Given the description of an element on the screen output the (x, y) to click on. 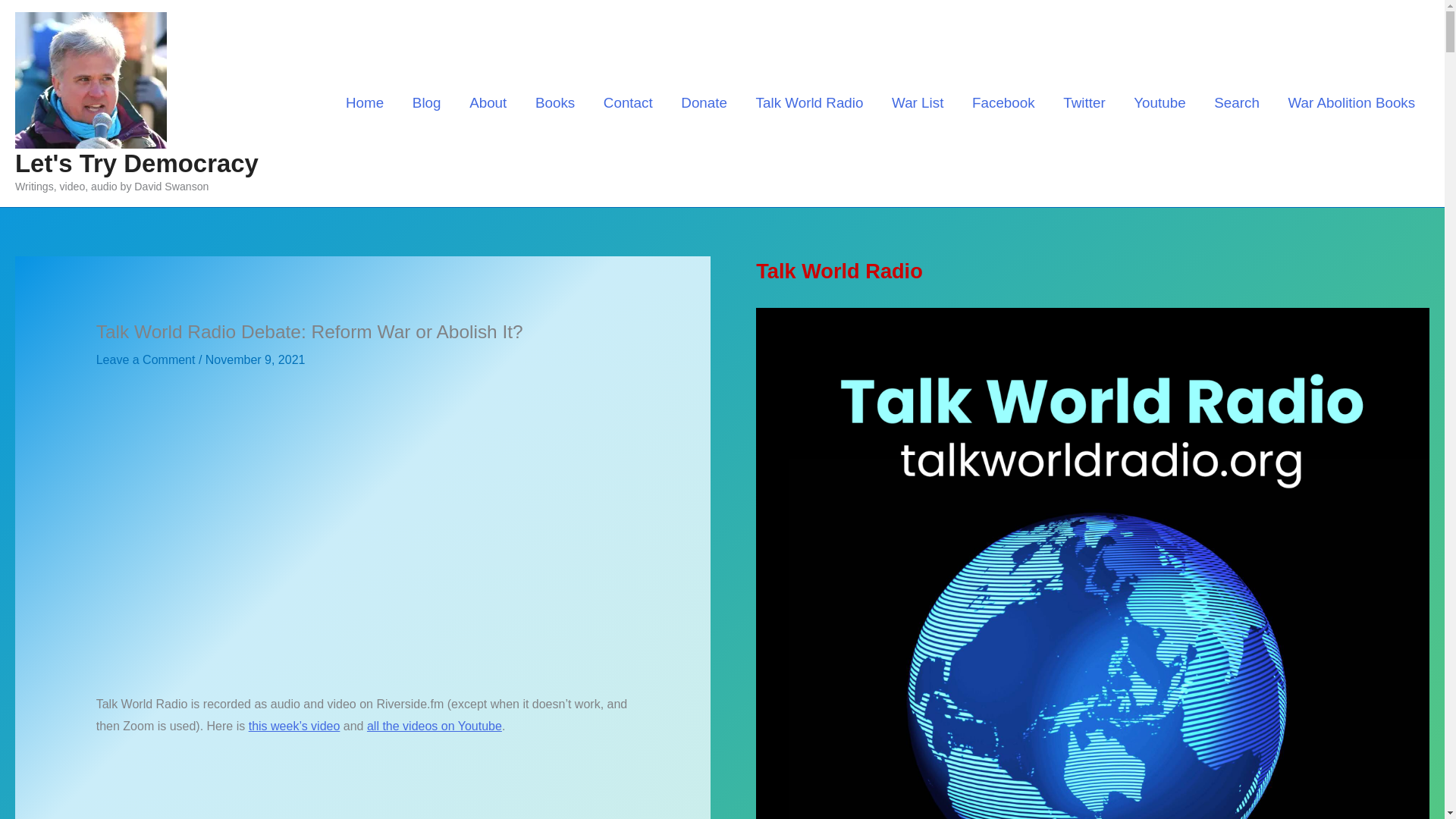
Search (1235, 102)
Let's Try Democracy (136, 163)
About (487, 102)
Donate (703, 102)
War List (917, 102)
all the videos on Youtube (434, 725)
Twitter (1083, 102)
Blog (425, 102)
Home (364, 102)
War Abolition Books (1351, 102)
Leave a Comment (145, 359)
Youtube (1159, 102)
Books (555, 102)
Talk World Radio (809, 102)
